Given the description of an element on the screen output the (x, y) to click on. 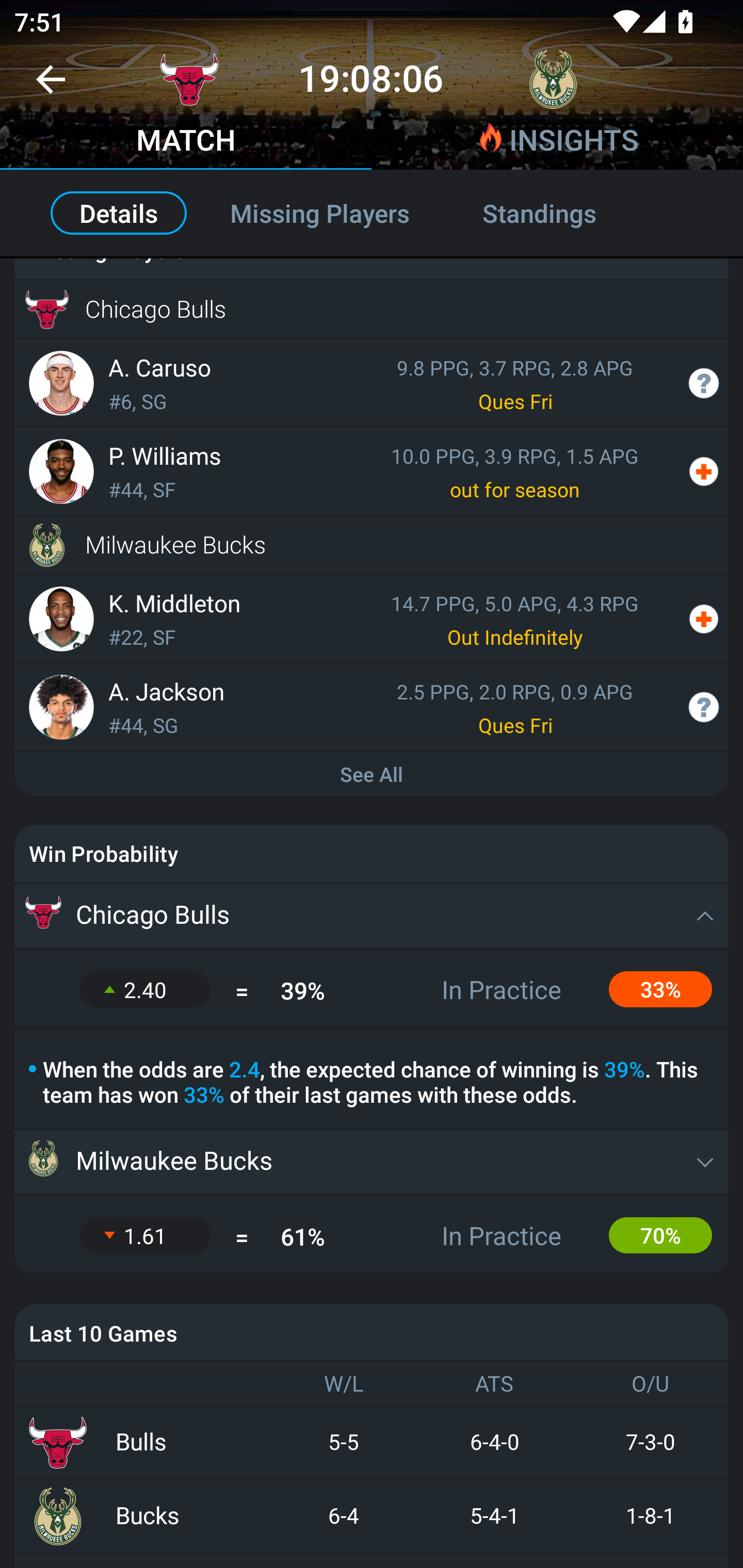
Navigate up (50, 86)
MATCH (185, 142)
INSIGHTS (557, 142)
Missing Players (319, 212)
Standings (561, 212)
Chicago Bulls (371, 309)
Milwaukee Bucks (371, 544)
See All (371, 774)
Win Probability (371, 853)
Chicago Bulls (371, 915)
Milwaukee Bucks (371, 1161)
Bulls 5-5 6-4-0 7-3-0 (371, 1442)
Bucks 6-4 5-4-1 1-8-1 (371, 1516)
